Given the description of an element on the screen output the (x, y) to click on. 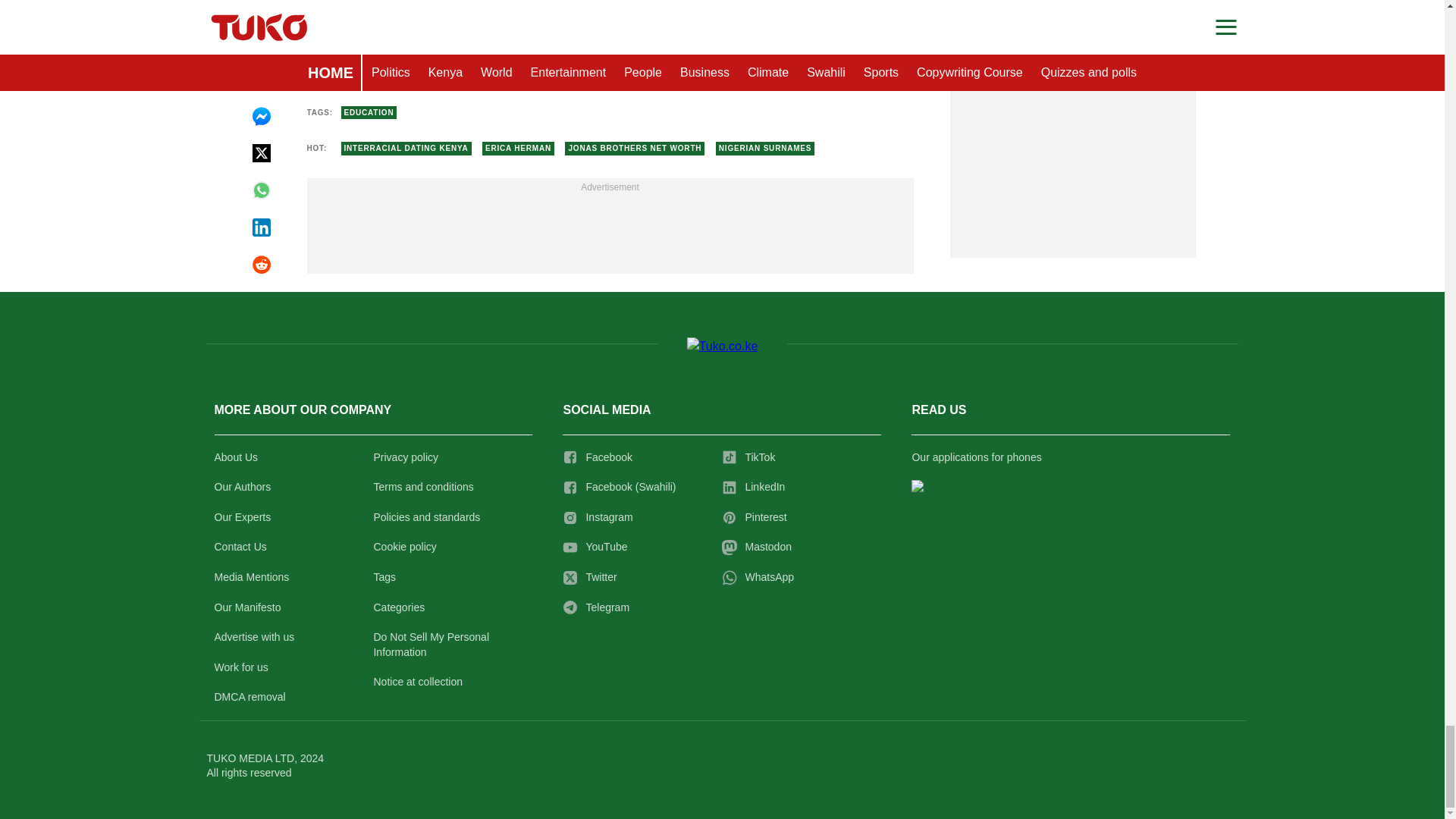
Author page (533, 63)
